Given the description of an element on the screen output the (x, y) to click on. 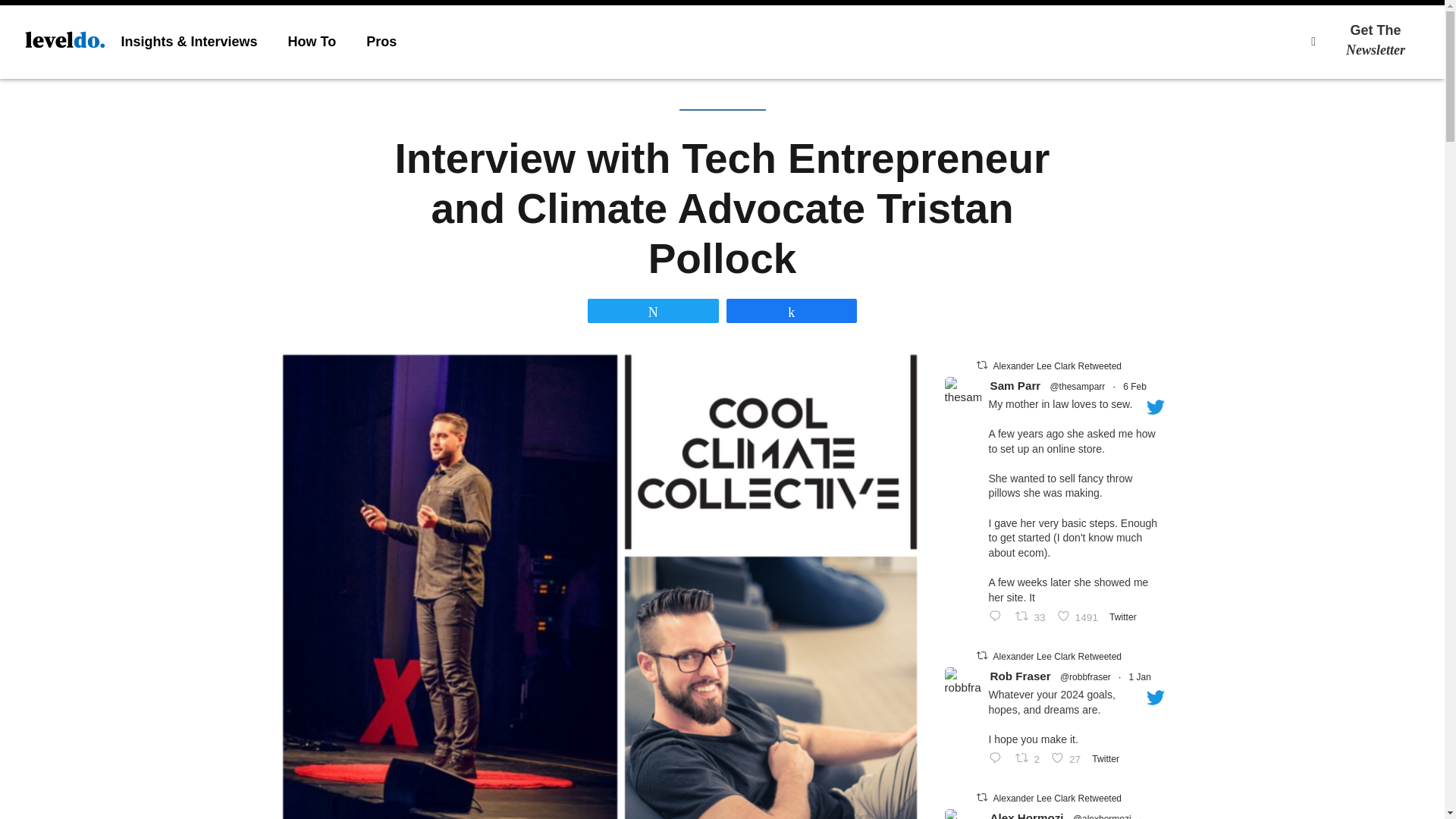
How To (1386, 40)
Pros (312, 41)
